Given the description of an element on the screen output the (x, y) to click on. 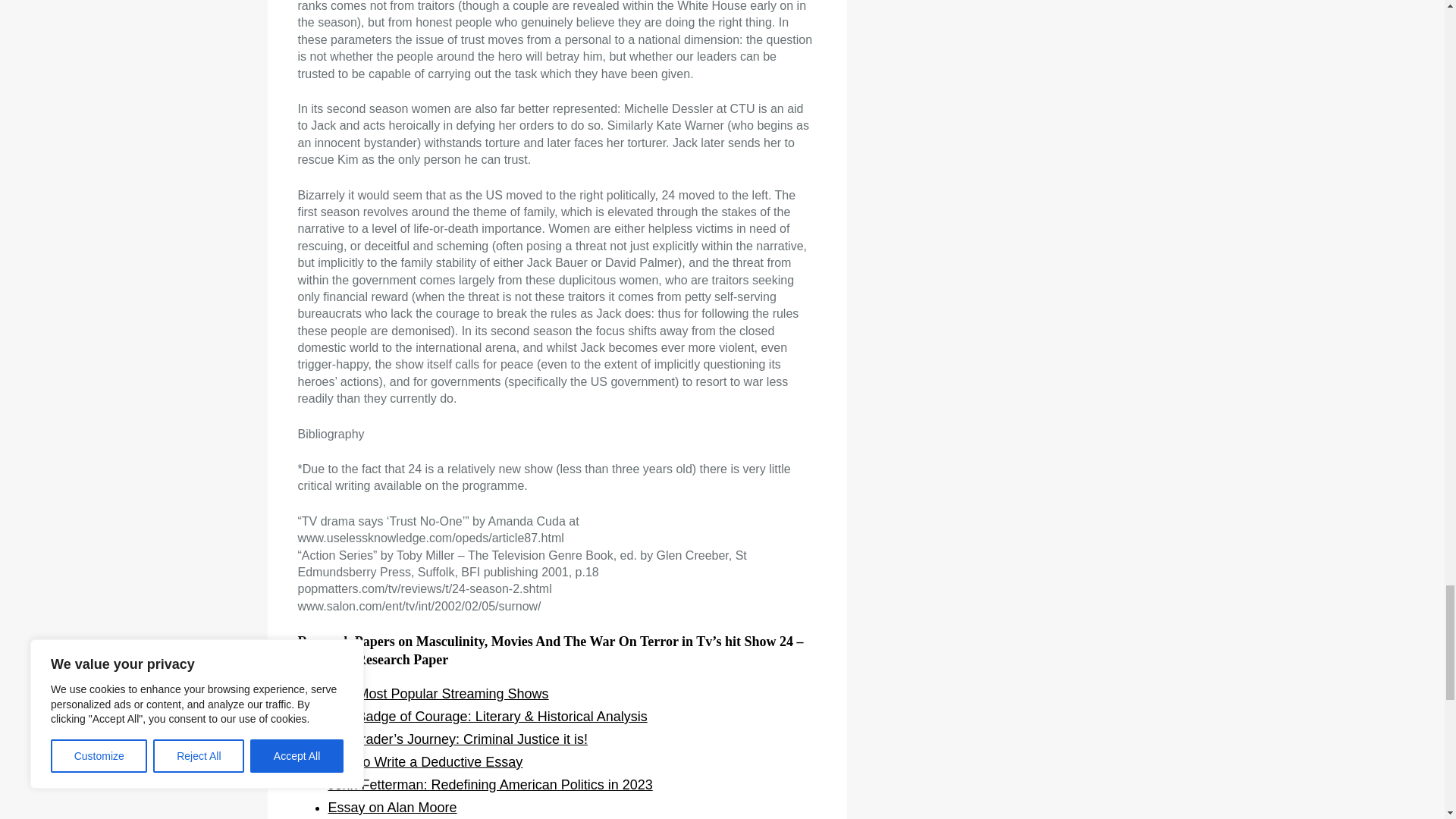
Five Most Popular Streaming Shows (437, 693)
Essay on Alan Moore (392, 807)
John Fetterman: Redefining American Politics in 2023 (489, 784)
How to Write a Deductive Essay (424, 761)
